Given the description of an element on the screen output the (x, y) to click on. 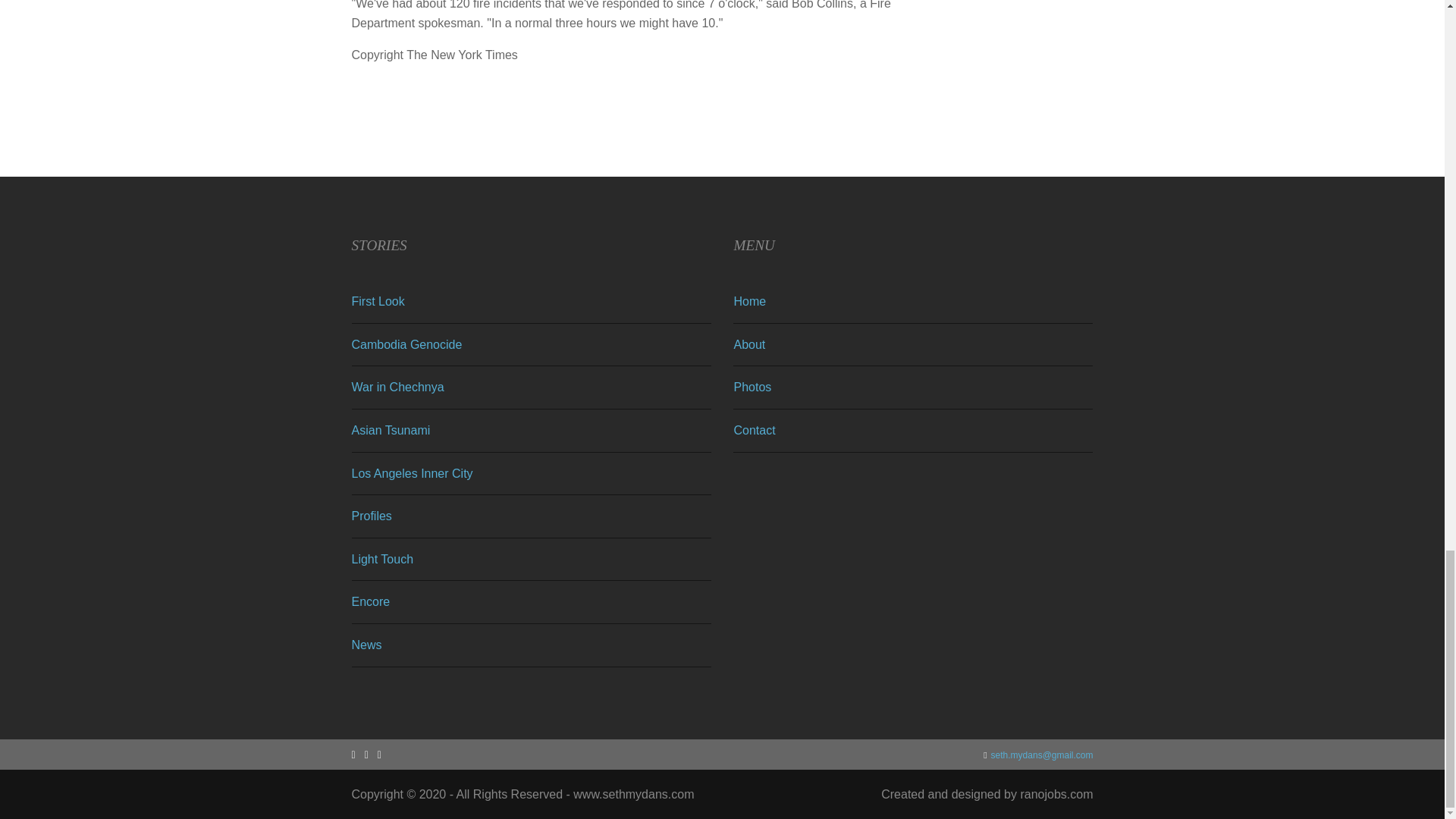
Los Angeles Inner City (412, 472)
News (366, 644)
Photos (752, 386)
Contact (753, 430)
Light Touch (382, 558)
Home (749, 300)
Encore (371, 601)
Cambodia Genocide (407, 344)
Asian Tsunami (391, 430)
Profiles (371, 515)
About (749, 344)
First Look (378, 300)
War in Chechnya (398, 386)
